Given the description of an element on the screen output the (x, y) to click on. 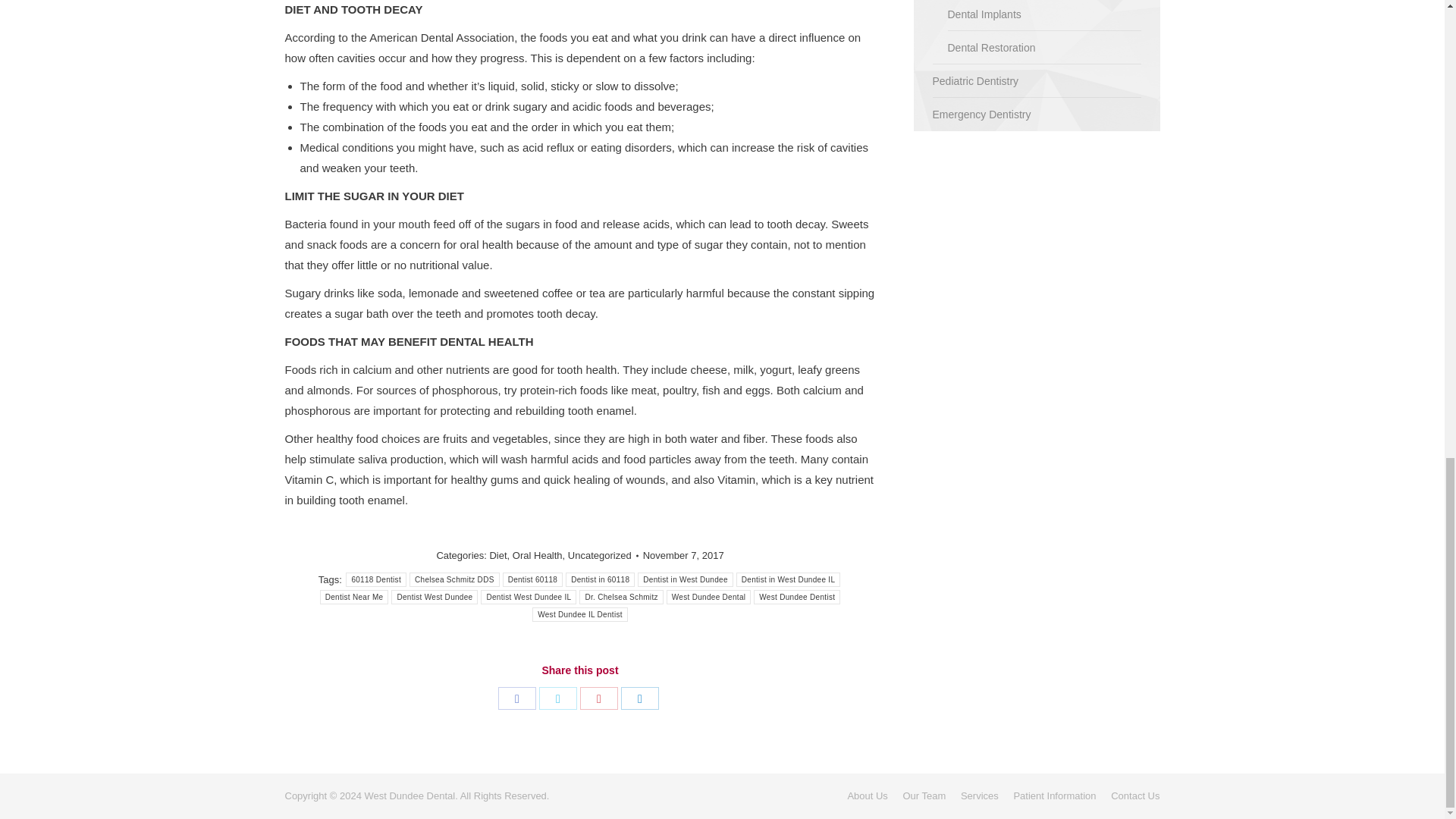
Twitter (557, 698)
Facebook (516, 698)
LinkedIn (640, 698)
3:38 am (683, 555)
Pinterest (598, 698)
